Given the description of an element on the screen output the (x, y) to click on. 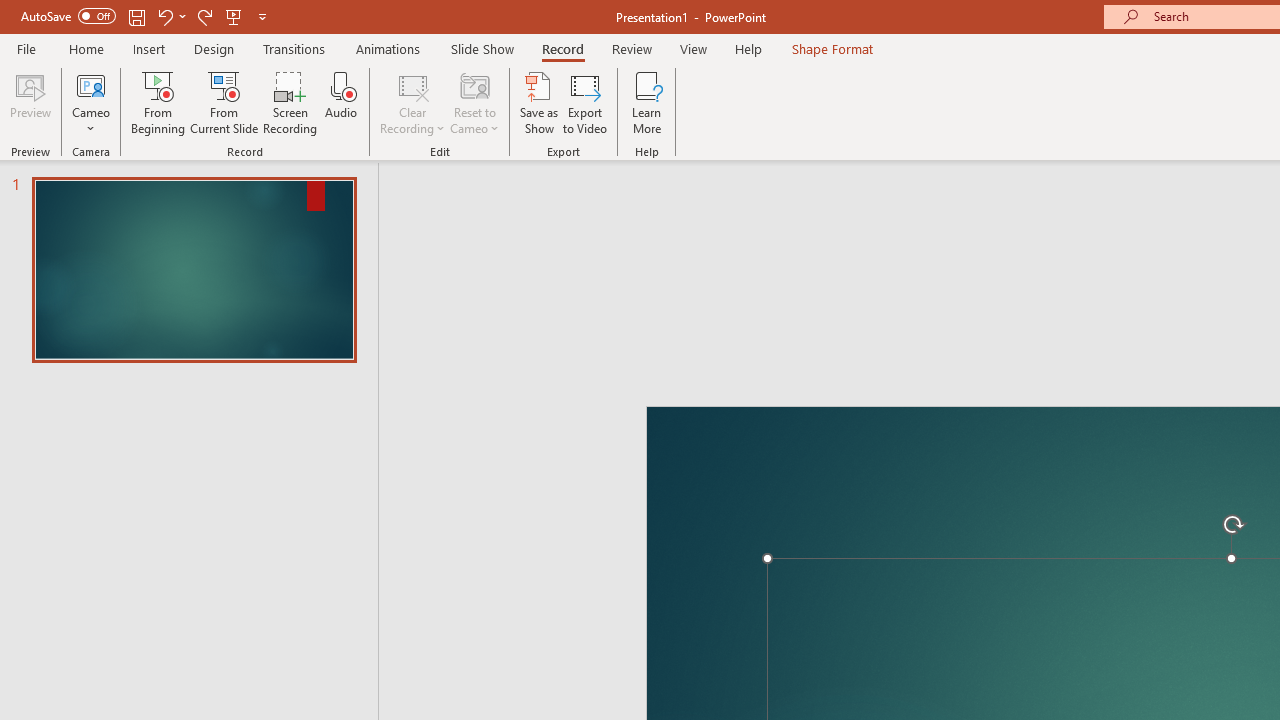
Cameo (91, 102)
Slide (194, 269)
Cameo (91, 84)
Reset to Cameo (474, 102)
Export to Video (585, 102)
Preview (30, 102)
Save as Show (539, 102)
